Given the description of an element on the screen output the (x, y) to click on. 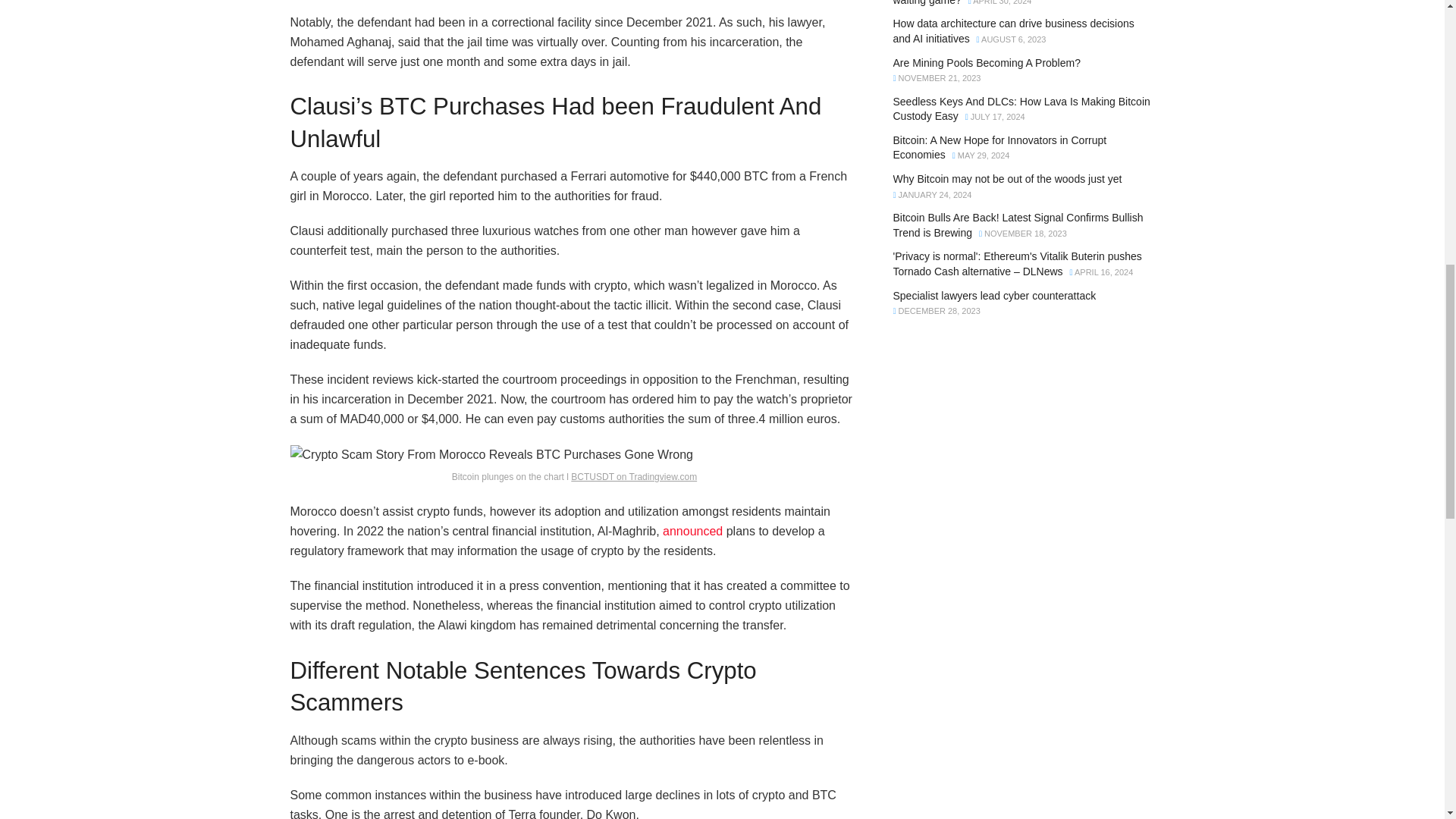
BCTUSDT on Tradingview.com (633, 476)
announced (692, 530)
